Given the description of an element on the screen output the (x, y) to click on. 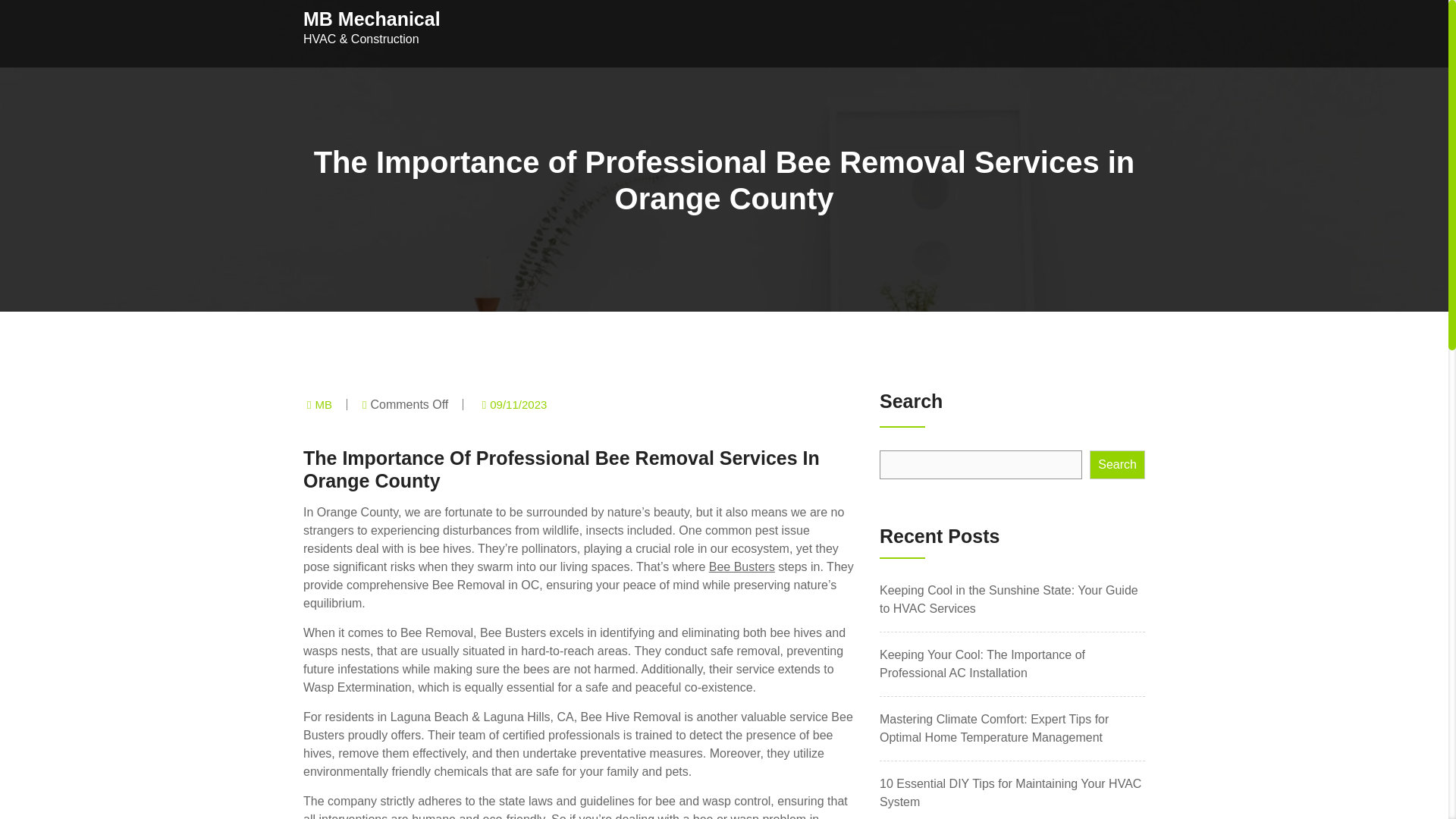
Bee Busters (741, 566)
10 Essential DIY Tips for Maintaining Your HVAC System (1010, 791)
MB (322, 404)
Search (1116, 464)
